Given the description of an element on the screen output the (x, y) to click on. 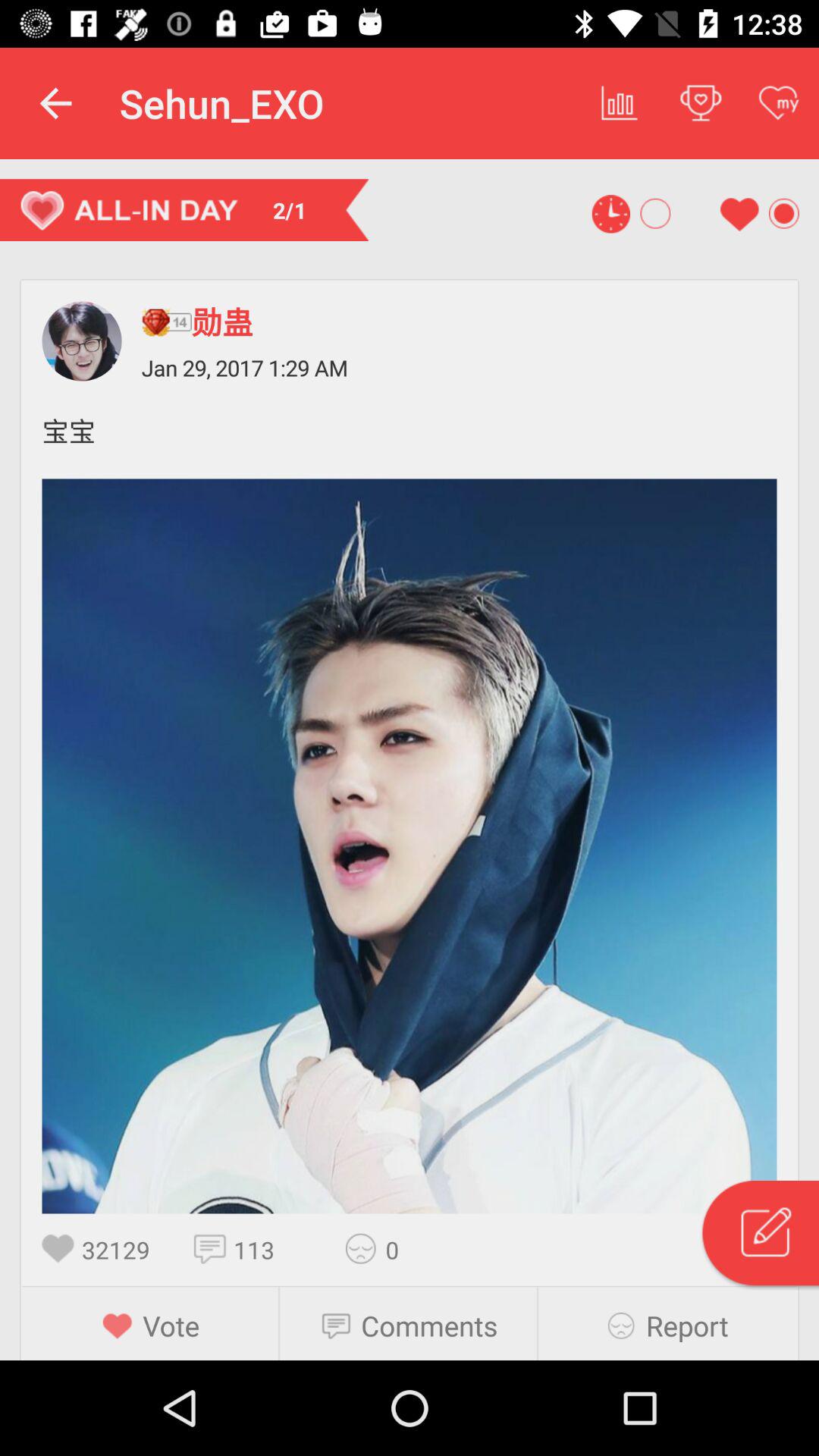
click profile (81, 341)
